Given the description of an element on the screen output the (x, y) to click on. 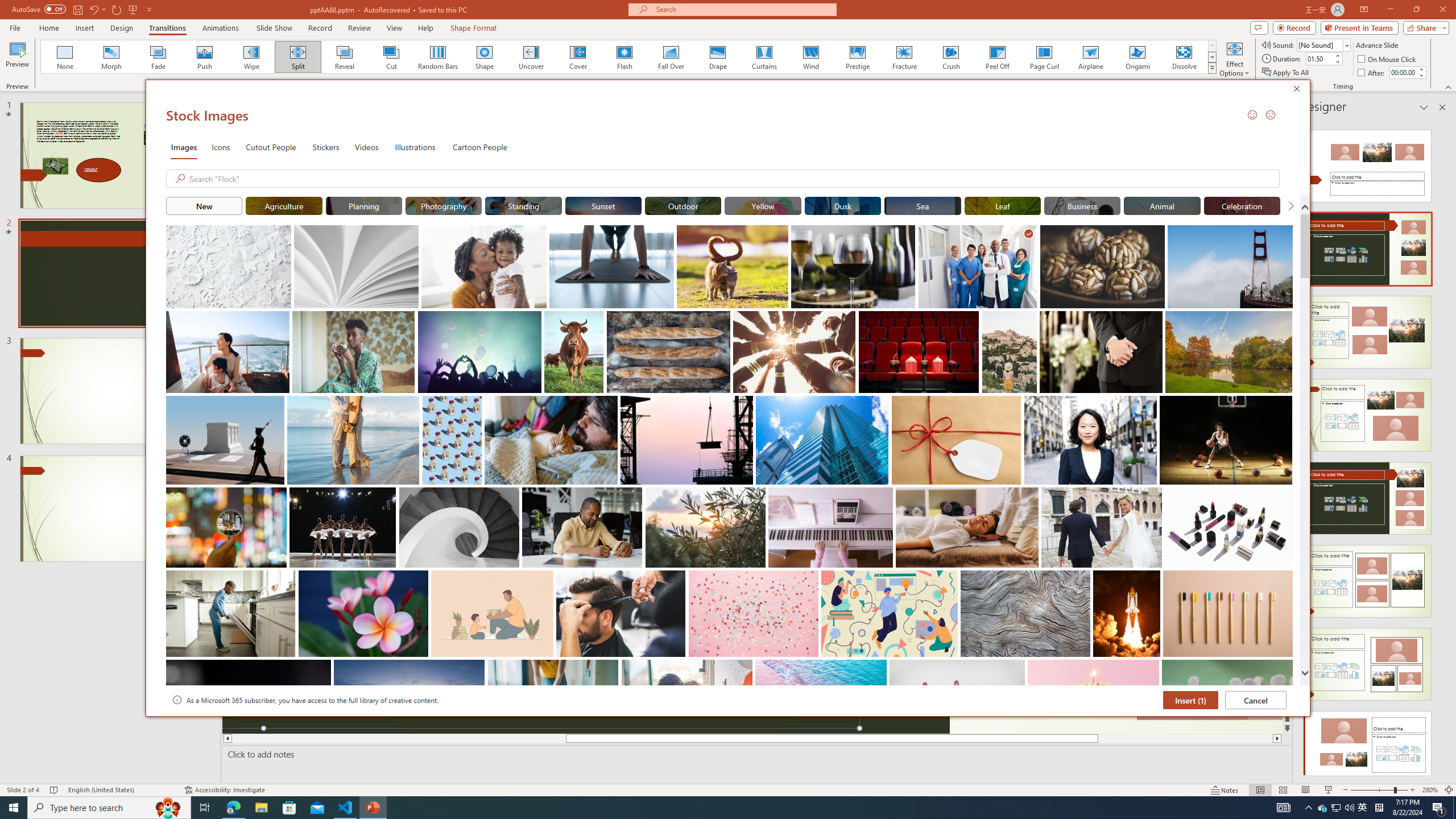
Close (1299, 90)
Minimize (1390, 9)
"Agriculture" Stock Images. (283, 205)
Review (359, 28)
Task Pane Options (1423, 107)
Send a Frown (1269, 114)
Uncover (531, 56)
Cutout People (271, 146)
Stickers (326, 146)
File Explorer (261, 807)
